Given the description of an element on the screen output the (x, y) to click on. 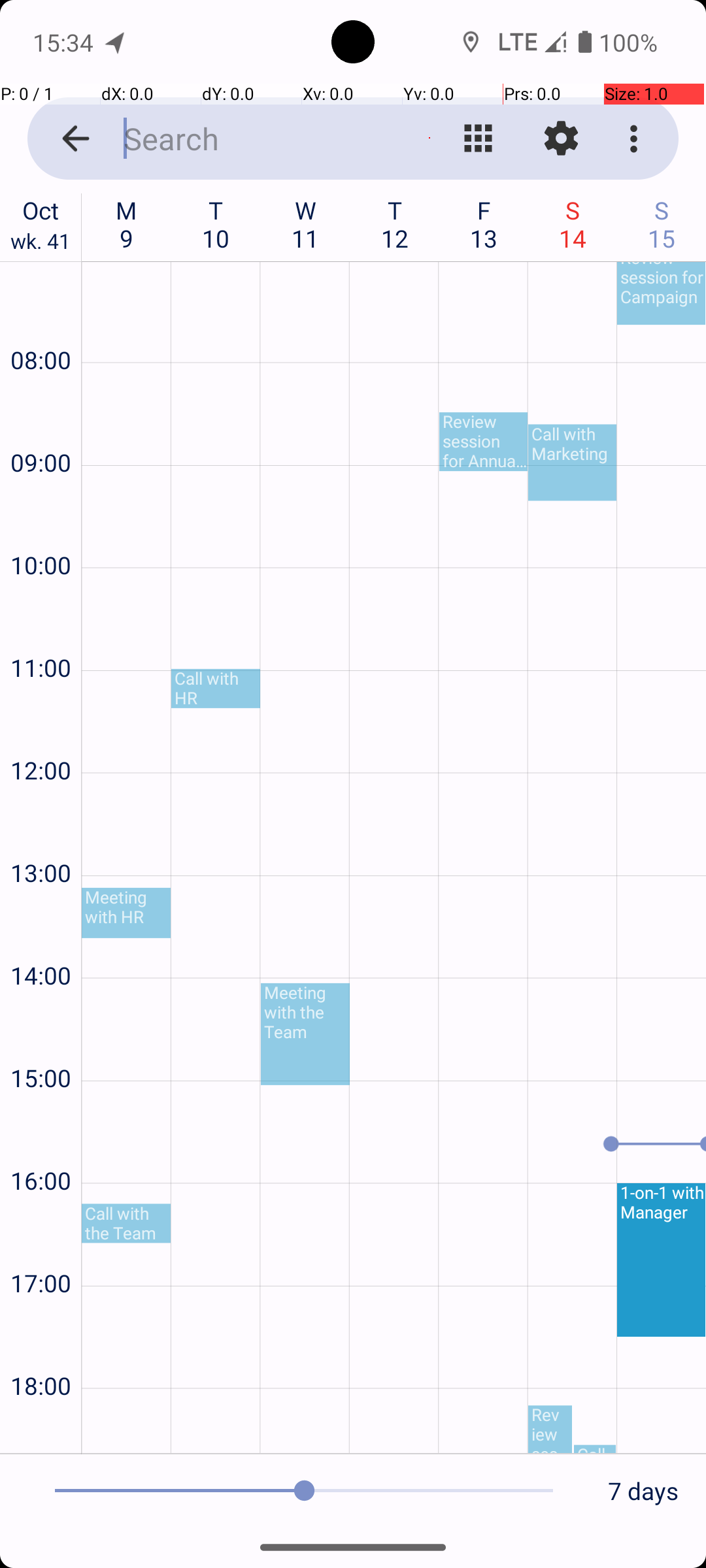
1-on-1 with Manager Element type: android.widget.TextView (661, 1259)
